Given the description of an element on the screen output the (x, y) to click on. 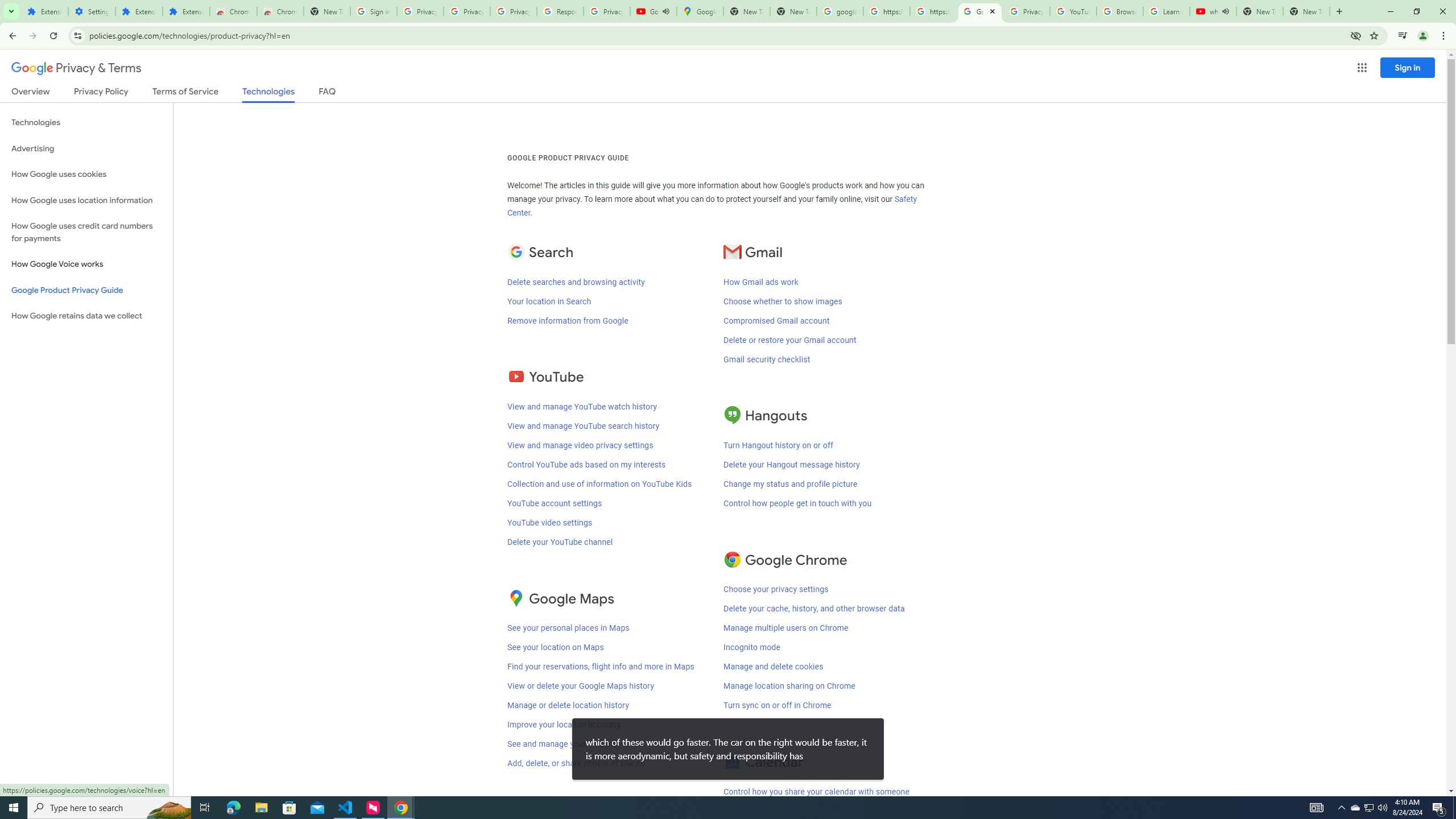
Extensions (44, 11)
New Tab (326, 11)
How Gmail ads work (760, 281)
See your location on Maps (555, 647)
Incognito mode (751, 647)
How Google Voice works (86, 264)
How Google uses cookies (86, 174)
YouTube account settings (554, 502)
